Given the description of an element on the screen output the (x, y) to click on. 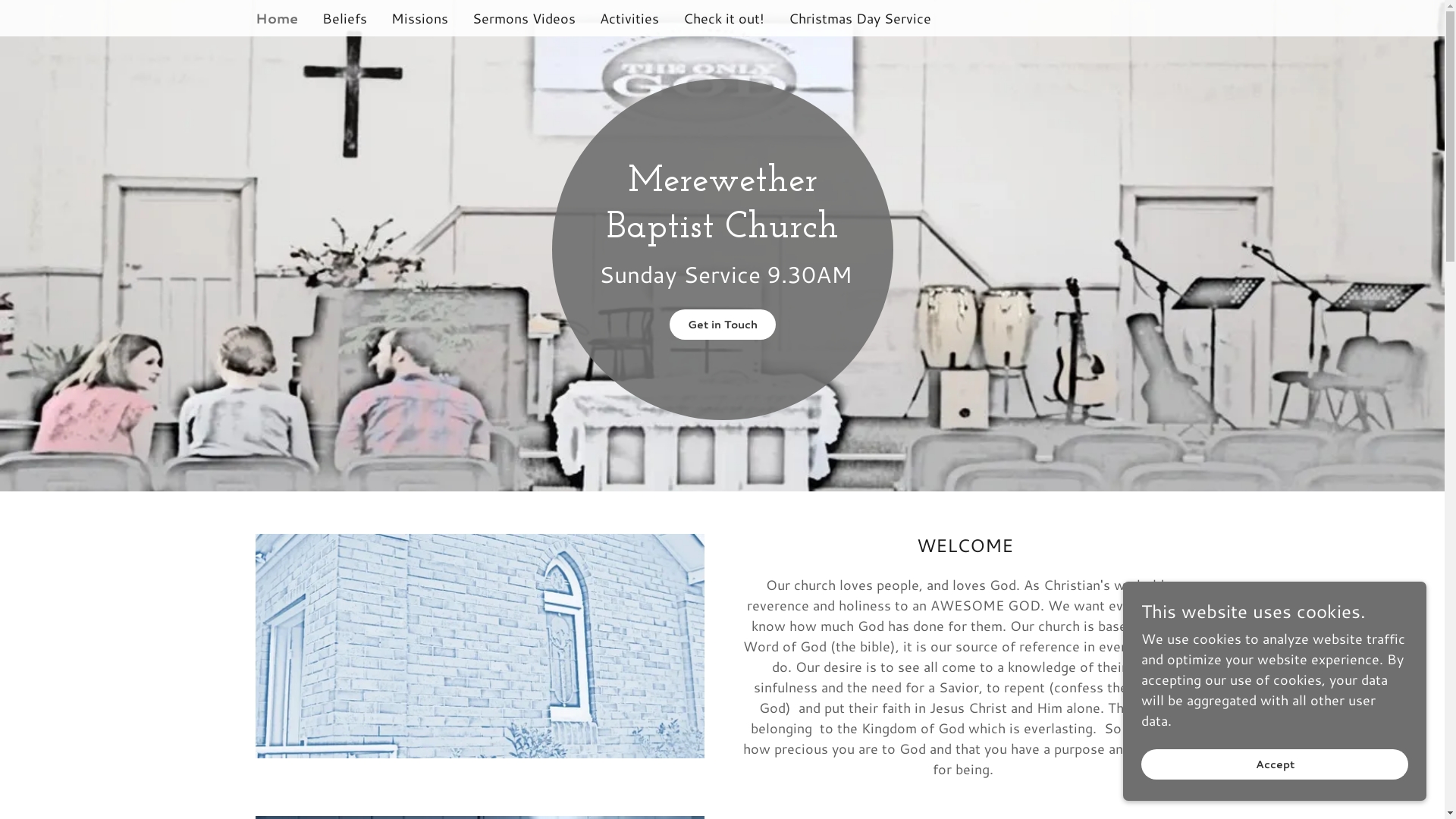
Sermons Videos Element type: text (523, 17)
Get in Touch Element type: text (721, 324)
Accept Element type: text (1274, 764)
Christmas Day Service Element type: text (859, 17)
Home Element type: text (275, 18)
Activities Element type: text (628, 17)
Missions Element type: text (419, 17)
Check it out! Element type: text (722, 17)
Beliefs Element type: text (343, 17)
